Given the description of an element on the screen output the (x, y) to click on. 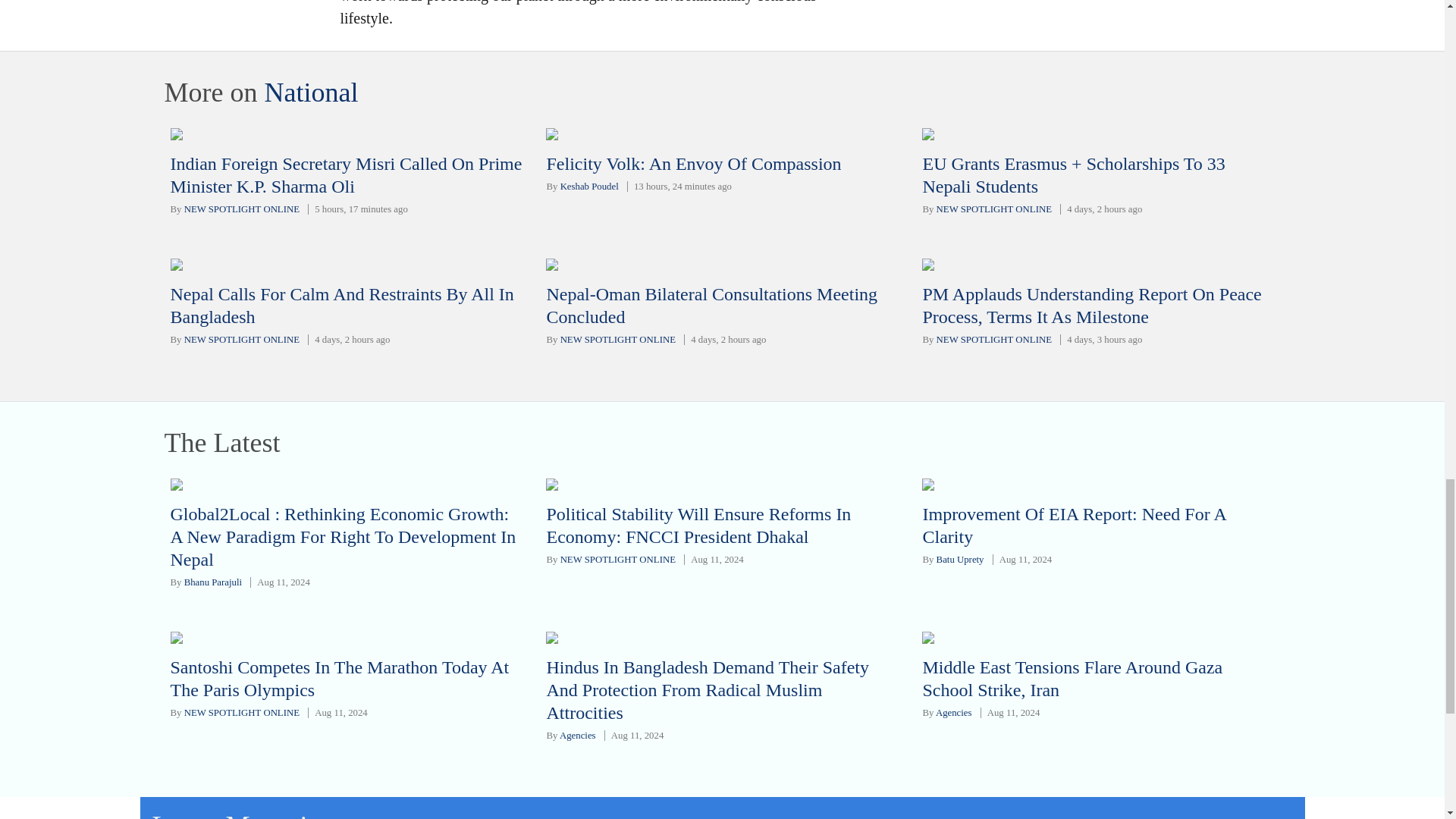
Nepal-Oman Bilateral Consultations Meeting Concluded (711, 305)
Nepal Calls For Calm And Restraints By All In Bangladesh (341, 305)
NEW SPOTLIGHT ONLINE (993, 208)
NEW SPOTLIGHT ONLINE (993, 339)
NEW SPOTLIGHT ONLINE (617, 339)
National (310, 91)
NEW SPOTLIGHT ONLINE (241, 208)
Keshab Poudel (589, 185)
